Given the description of an element on the screen output the (x, y) to click on. 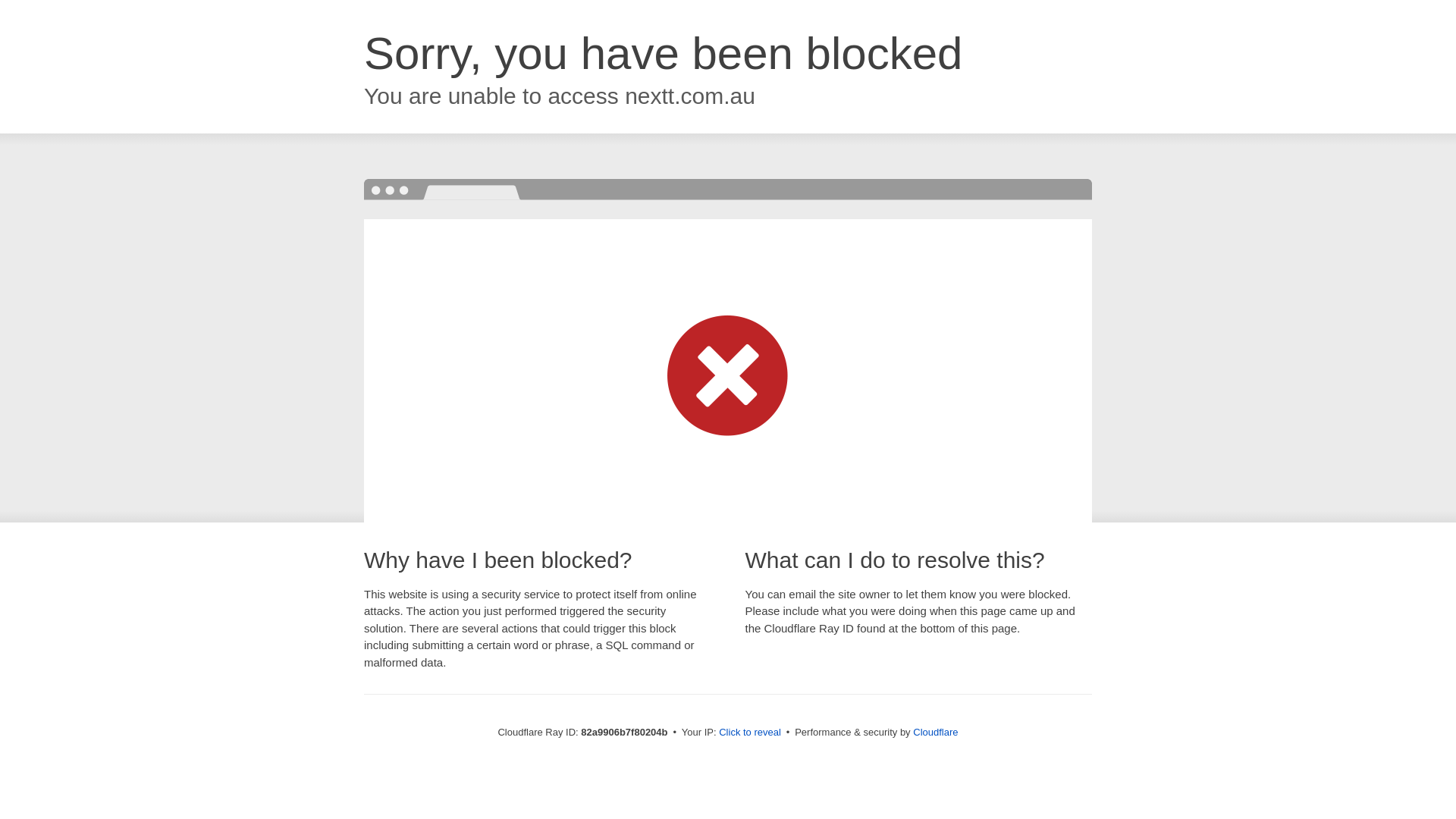
Click to reveal Element type: text (749, 732)
Cloudflare Element type: text (935, 731)
